Given the description of an element on the screen output the (x, y) to click on. 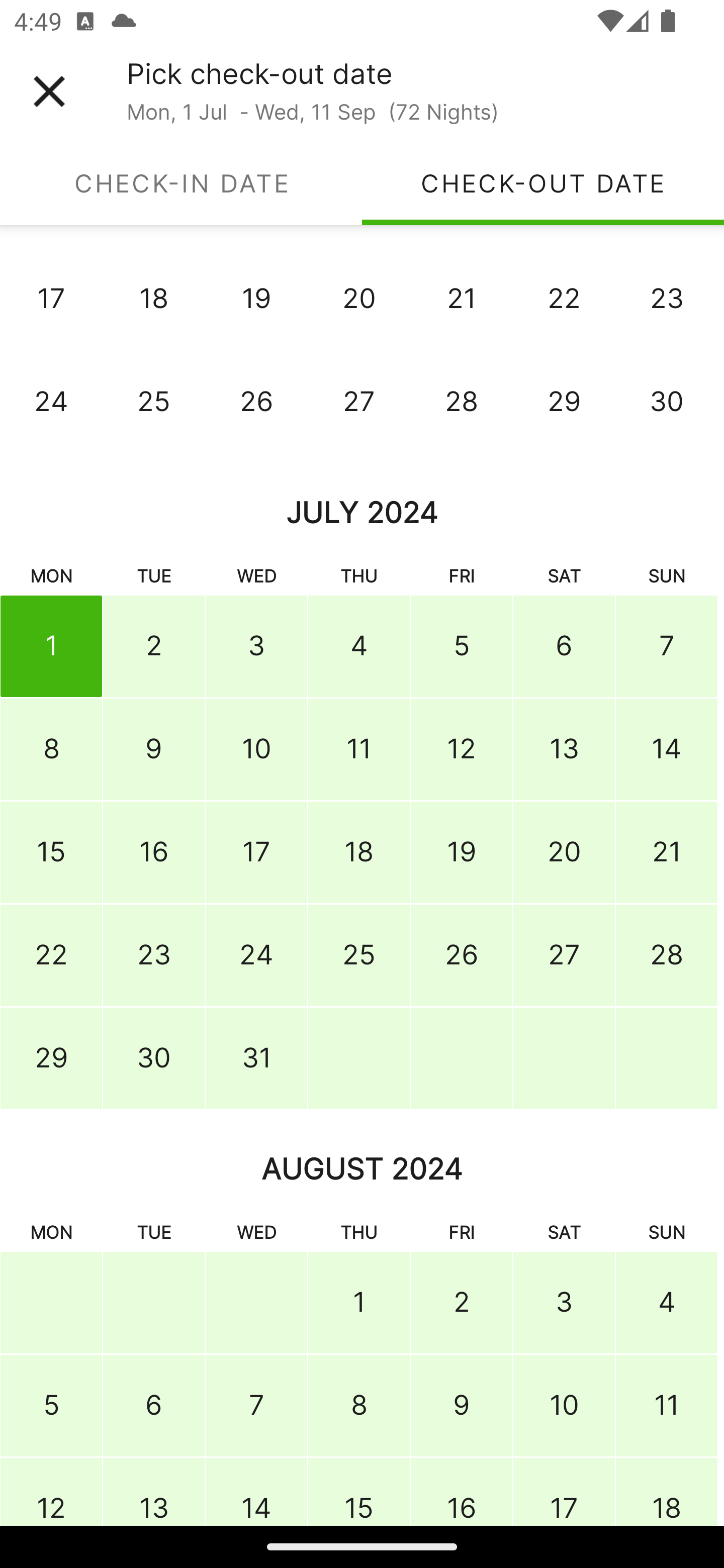
Check-in Date CHECK-IN DATE (181, 183)
